Given the description of an element on the screen output the (x, y) to click on. 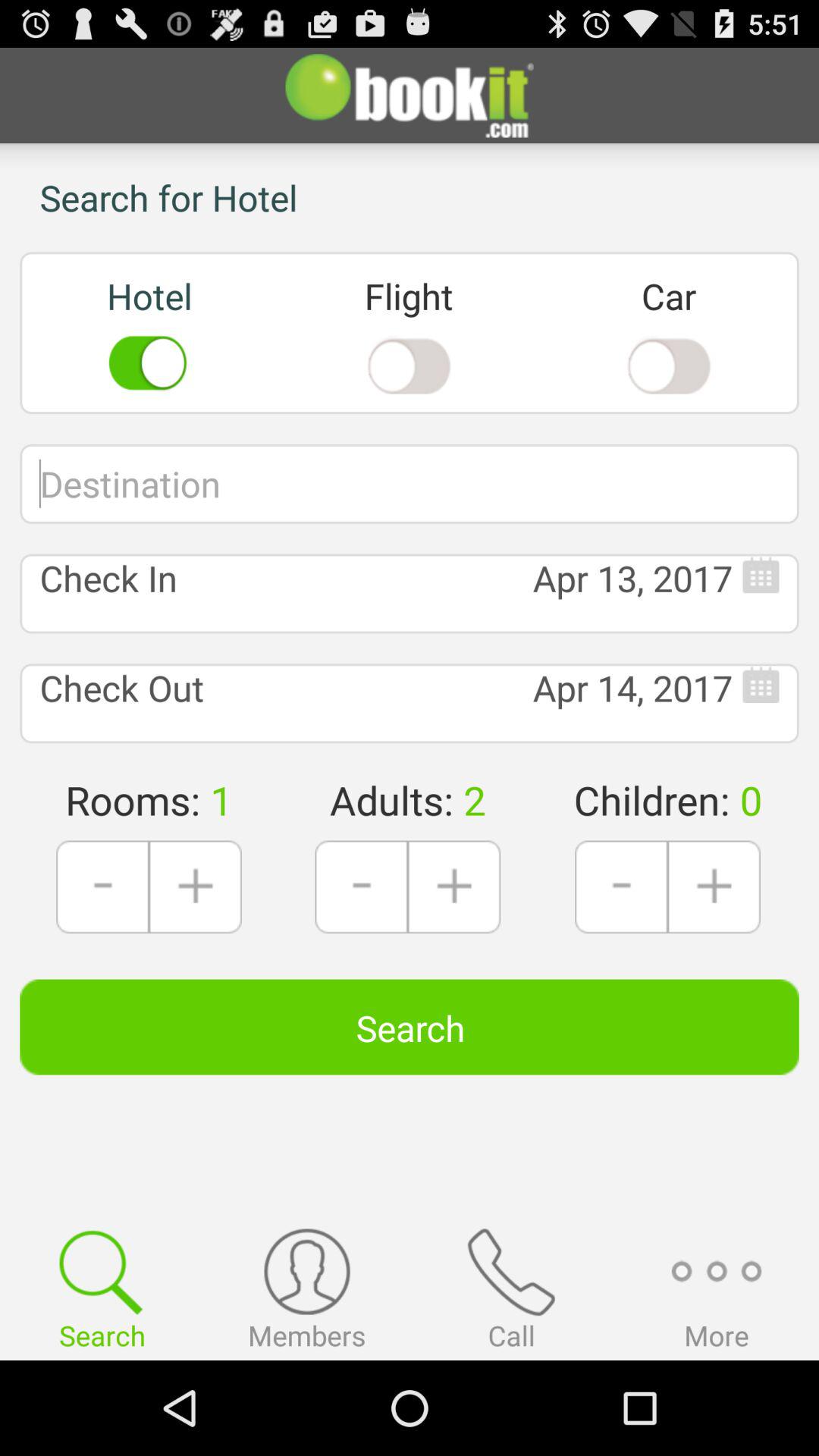
select the mines button under adults (361, 887)
select the button at the top of page (409, 95)
select the icon below text hotel (148, 364)
select more option which is on the bottom of the page (716, 1290)
